Given the description of an element on the screen output the (x, y) to click on. 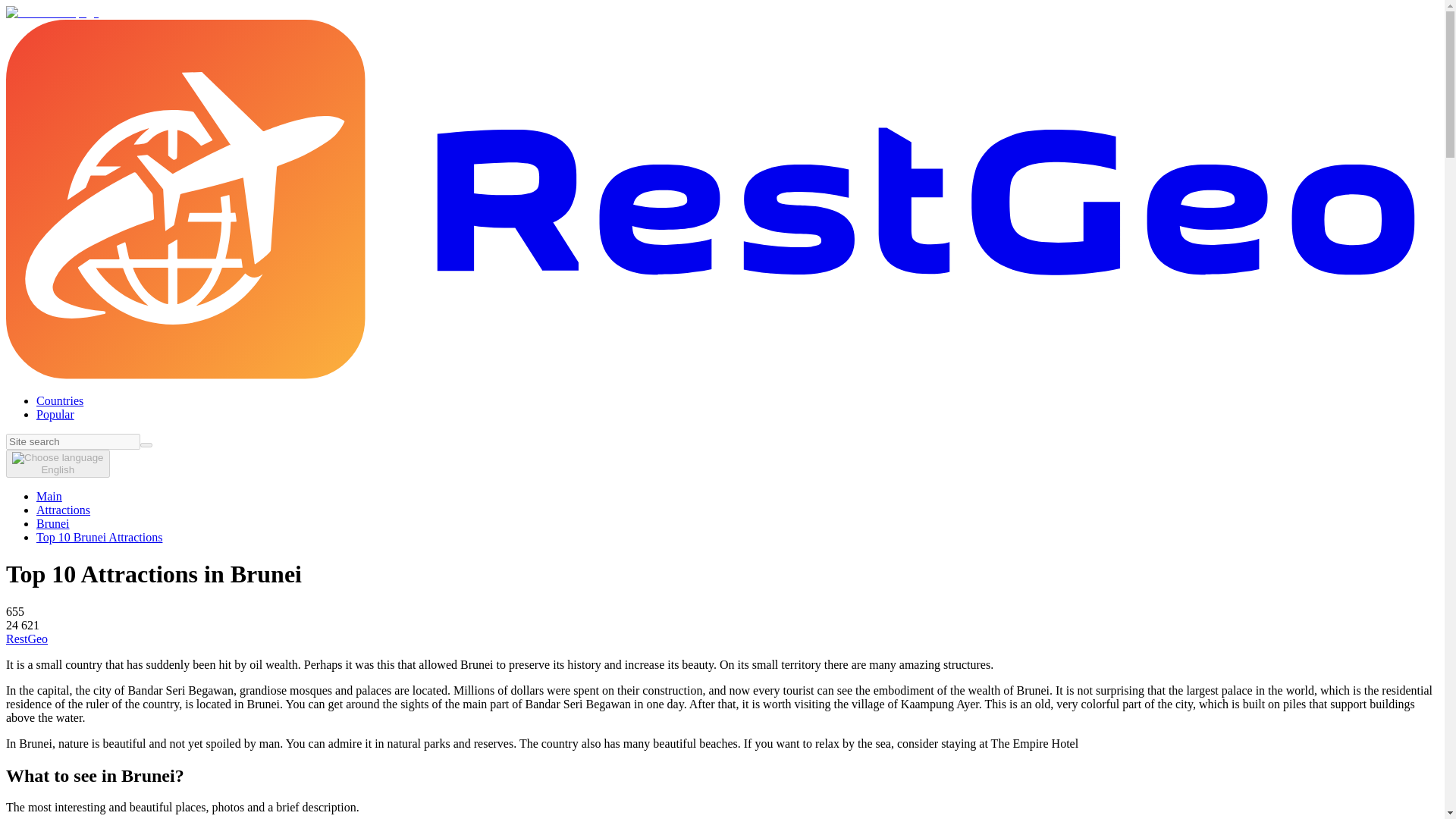
Main (49, 495)
Countries (59, 400)
RestGeo (26, 638)
Brunei (52, 522)
Author (26, 638)
Main (49, 495)
English (57, 463)
Find (145, 445)
Popular (55, 413)
Top 10 Brunei Attractions (98, 536)
